Given the description of an element on the screen output the (x, y) to click on. 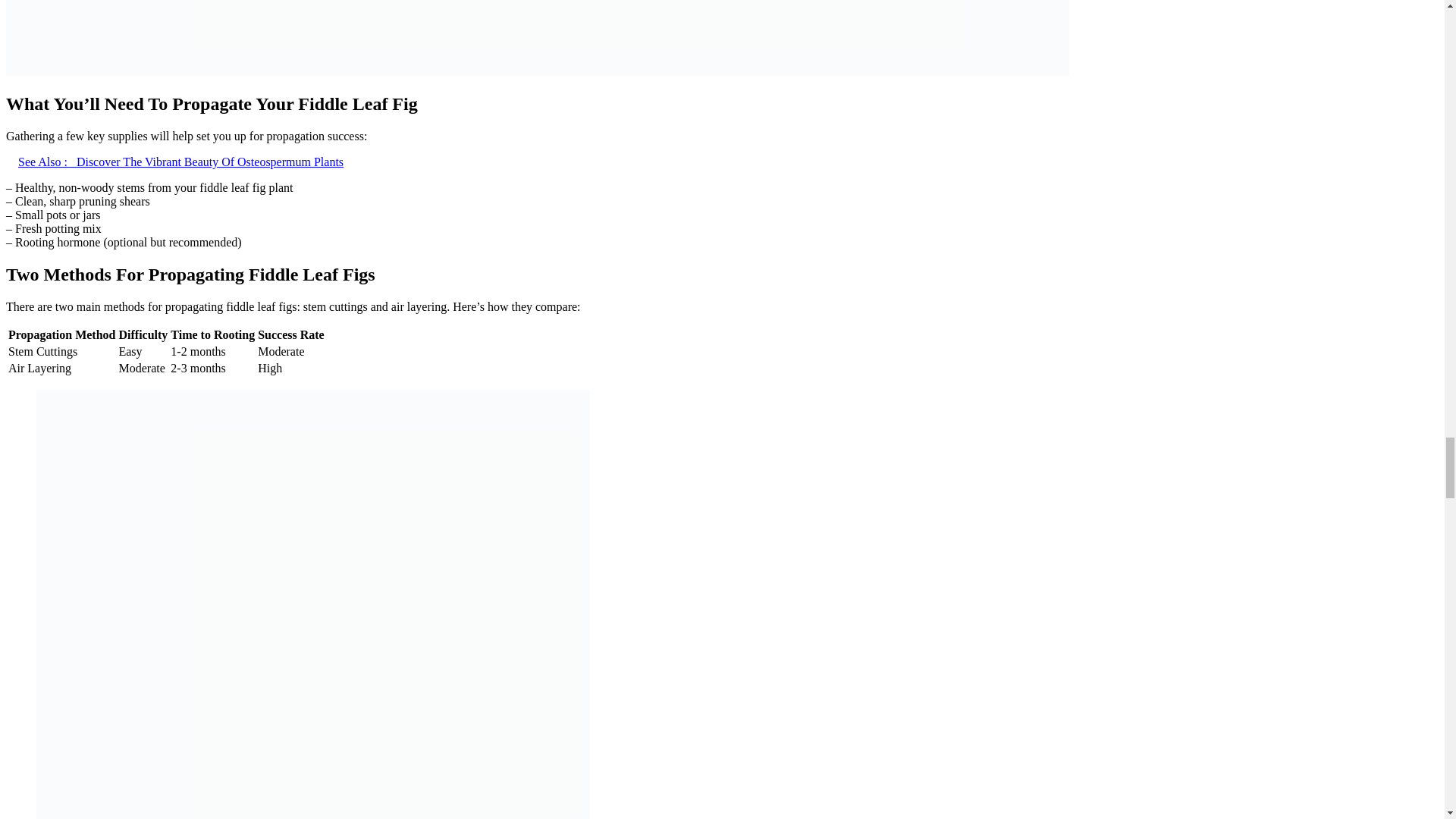
How To Propagate Fiddle Leaf Fig (536, 71)
